Given the description of an element on the screen output the (x, y) to click on. 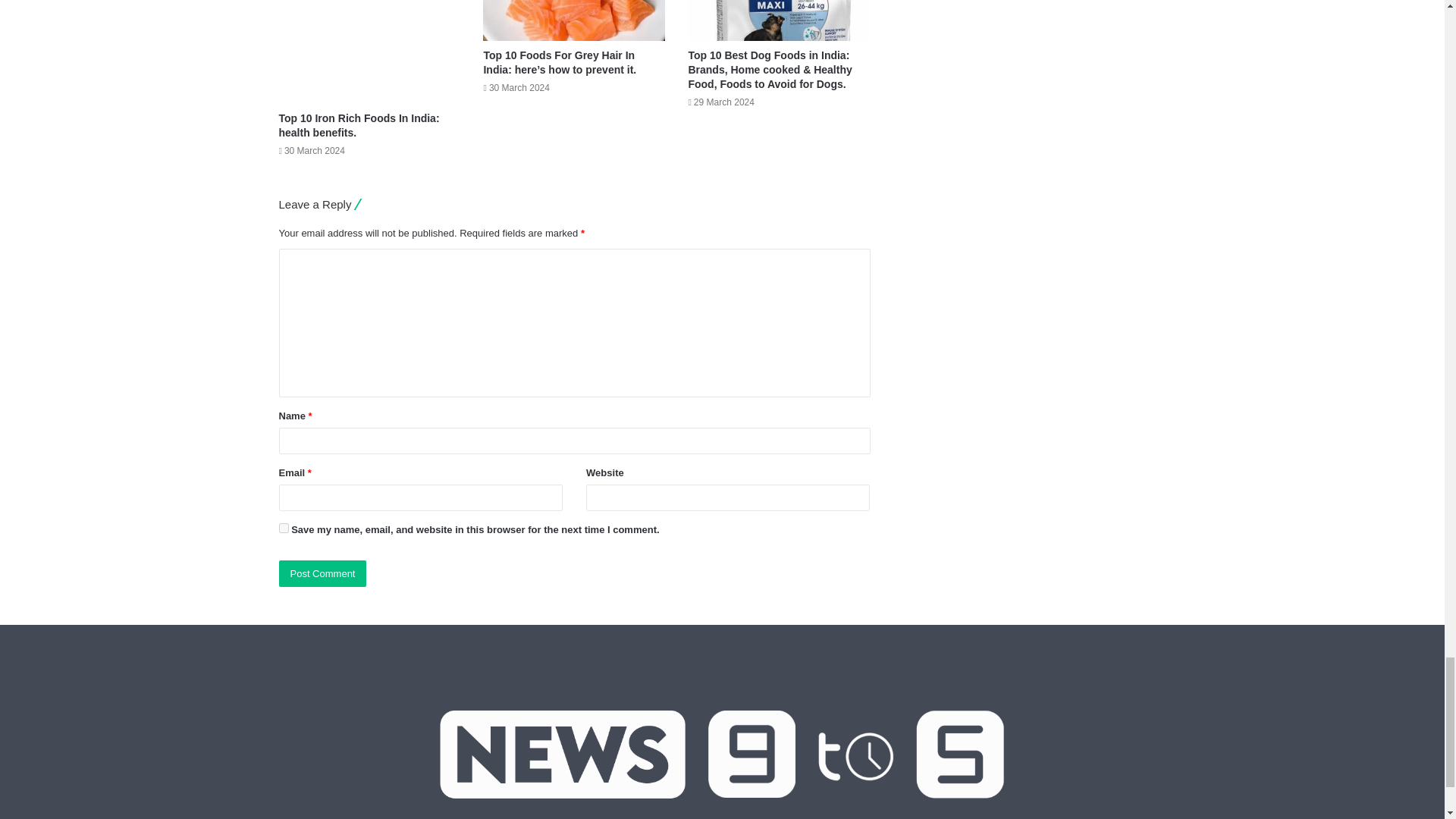
Post Comment (322, 573)
yes (283, 528)
